Given the description of an element on the screen output the (x, y) to click on. 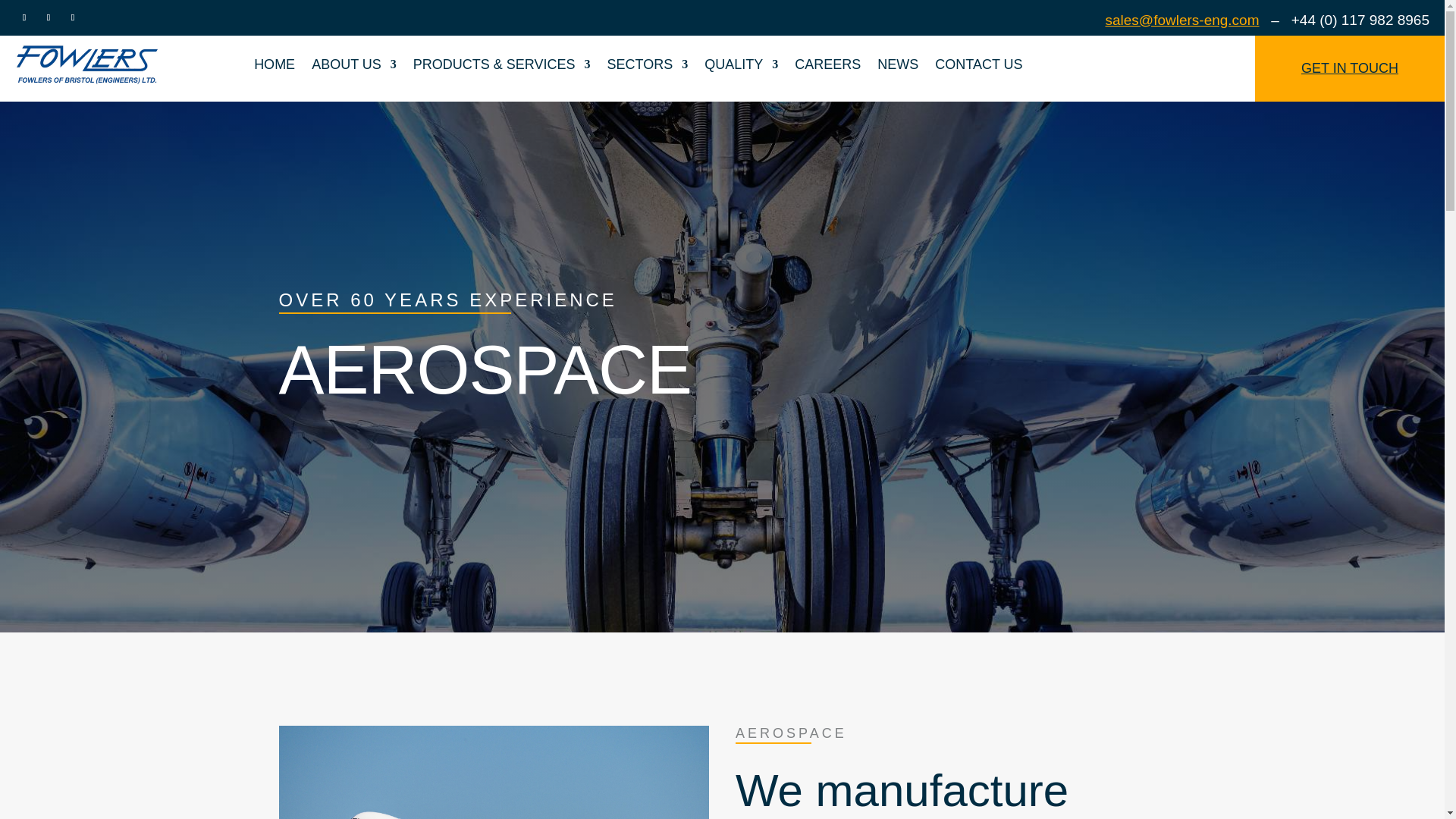
Follow on LinkedIn (23, 17)
ABOUT US (353, 64)
CONTACT US (978, 64)
SECTORS (647, 64)
Follow on Instagram (72, 17)
QUALITY (740, 64)
CAREERS (827, 64)
Follow on X (48, 17)
